Given the description of an element on the screen output the (x, y) to click on. 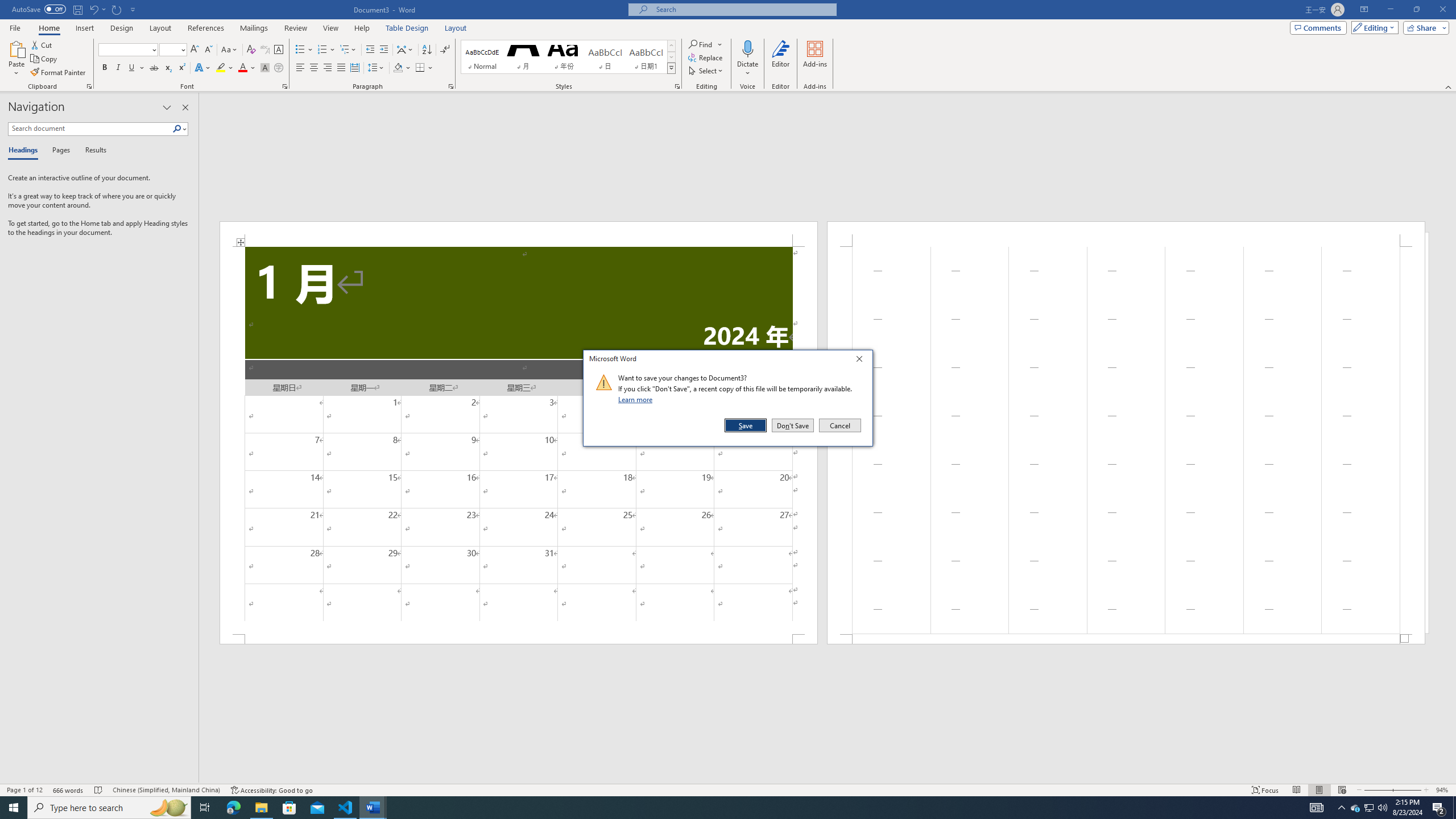
Show desktop (1454, 807)
Editor (780, 58)
Visual Studio Code - 1 running window (345, 807)
References (205, 28)
Notification Chevron (1341, 807)
Row Down (670, 56)
Focus  (1265, 790)
Task Pane Options (167, 107)
Word - 2 running windows (373, 807)
Header -Section 1- (1126, 233)
Review (295, 28)
